Given the description of an element on the screen output the (x, y) to click on. 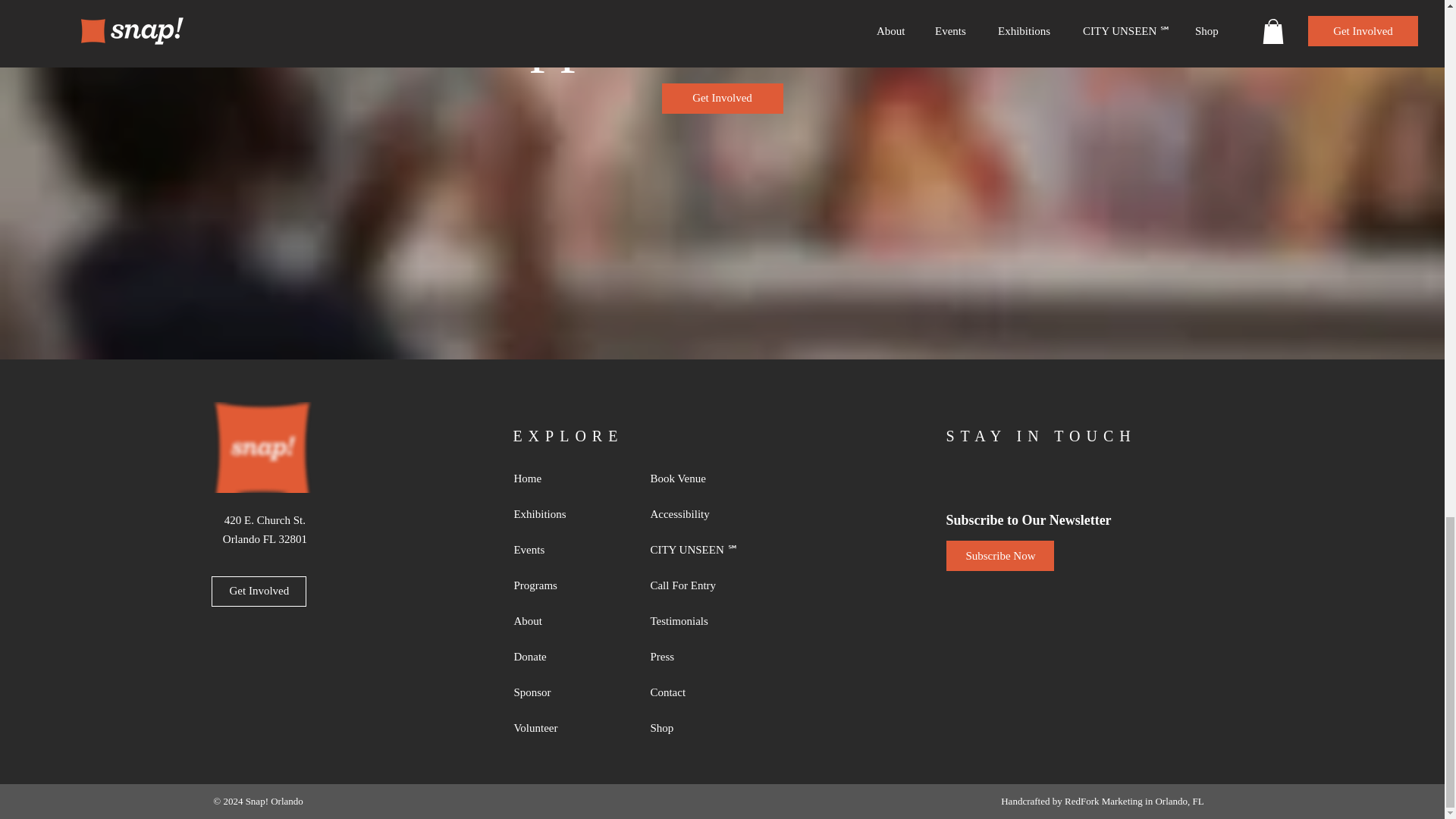
Donate (555, 657)
Press (692, 657)
Book Venue (692, 479)
Testimonials (692, 621)
Contact (692, 693)
Shop (692, 728)
Get Involved (258, 591)
Get Involved (722, 98)
About (555, 621)
Sponsor (555, 693)
Events (555, 550)
Accessibility (692, 514)
Home (555, 479)
Programs (555, 585)
Exhibitions (555, 514)
